Given the description of an element on the screen output the (x, y) to click on. 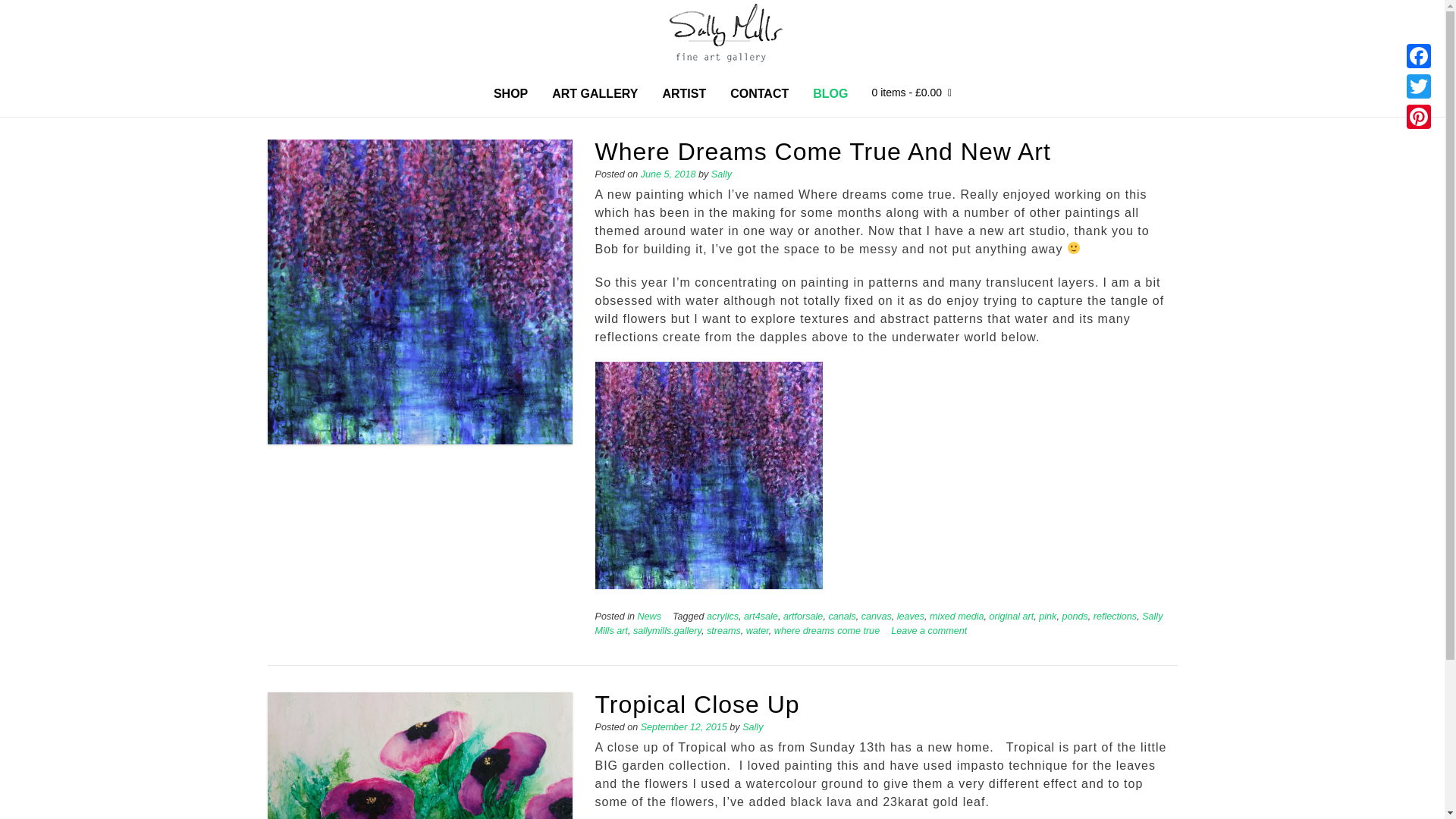
Sally (721, 173)
ARTIST (683, 96)
Tropical Close Up (696, 704)
original art (1010, 615)
art4sale (760, 615)
Sally Mills art (877, 623)
mixed media (957, 615)
CONTACT (758, 96)
Leave a comment (928, 630)
View your shopping cart (911, 95)
where dreams come true (826, 630)
SHOP (510, 96)
canals (842, 615)
June 5, 2018 (667, 173)
September 12, 2015 (683, 726)
